Given the description of an element on the screen output the (x, y) to click on. 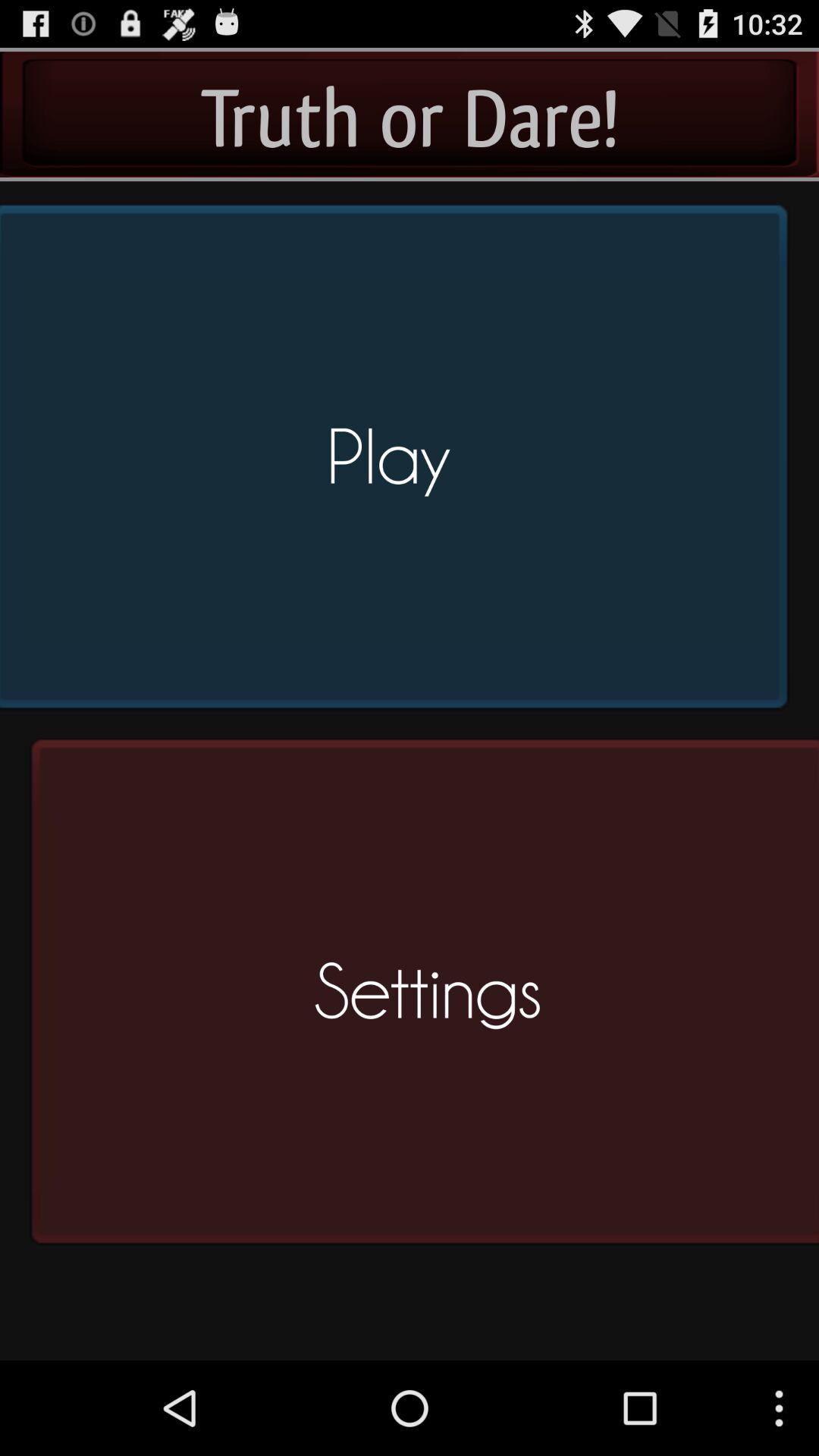
swipe until the settings (419, 997)
